Given the description of an element on the screen output the (x, y) to click on. 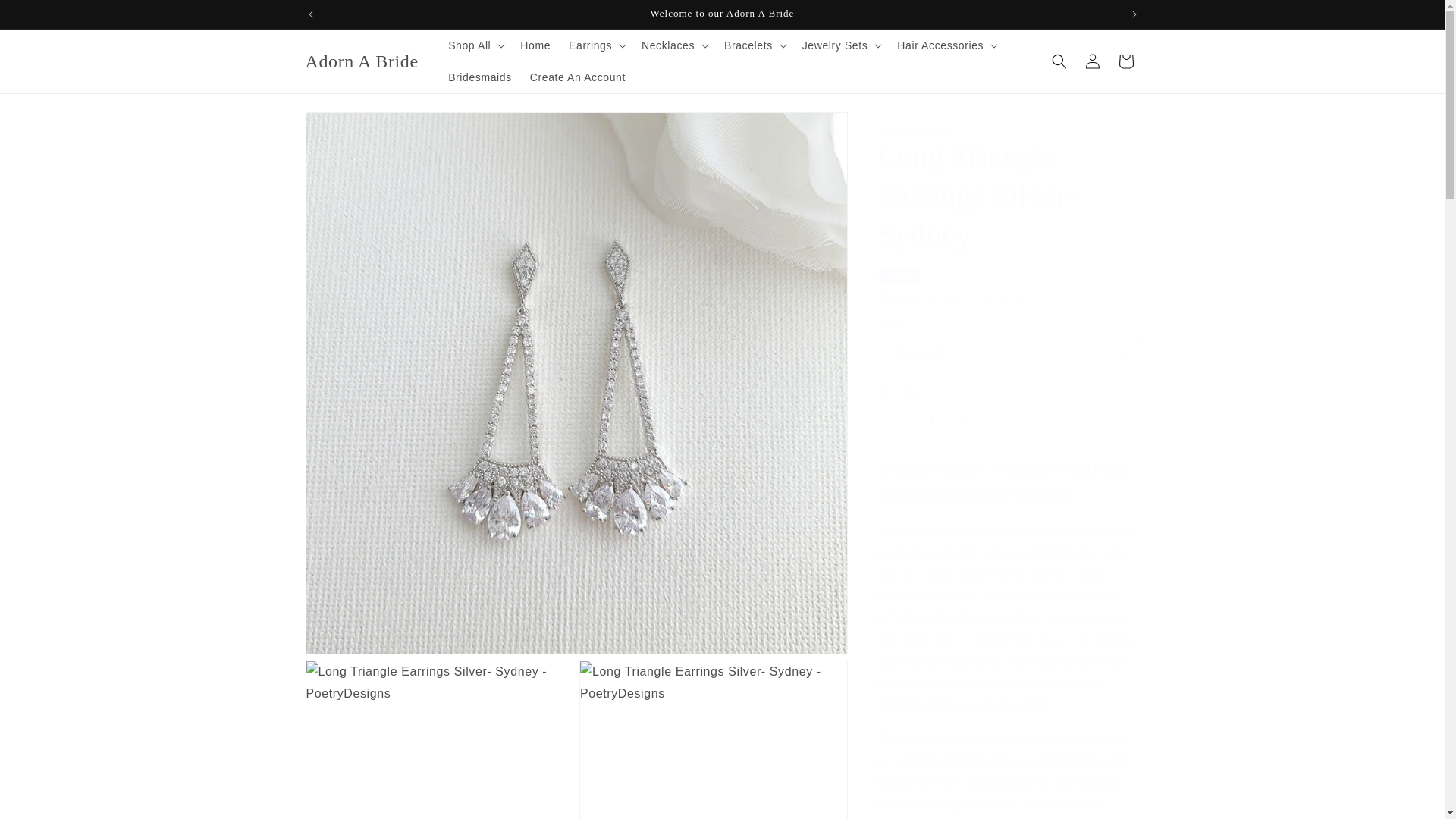
1 (931, 420)
Open media 3 in modal (713, 739)
Open media 2 in modal (438, 739)
Skip to content (45, 17)
